Given the description of an element on the screen output the (x, y) to click on. 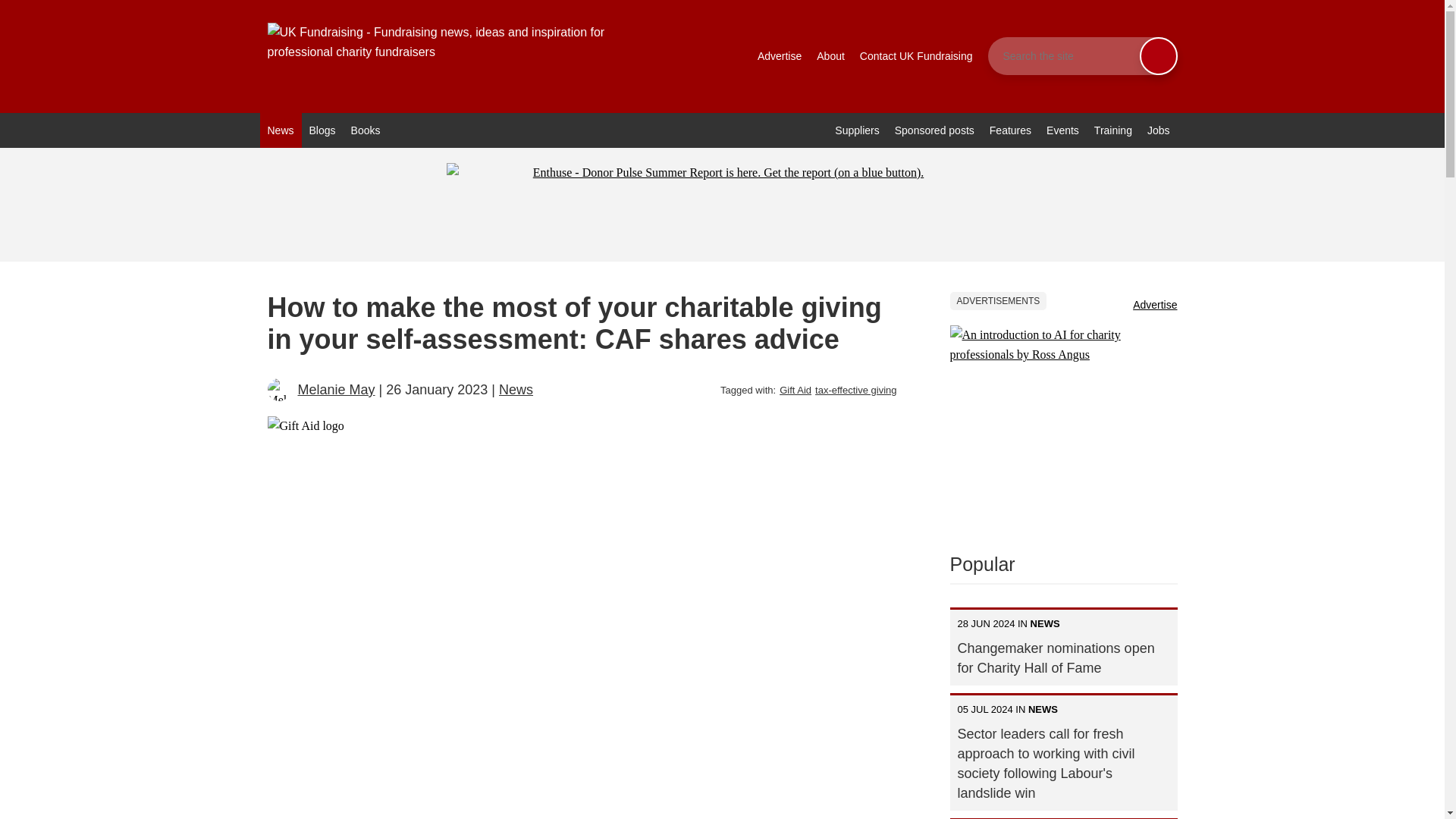
Goto UK Fundraising homepage (456, 56)
Contact UK Fundraising (915, 55)
News (280, 130)
Blogs (322, 130)
Features (1010, 130)
Jobs (1158, 130)
News (515, 389)
Training (1113, 130)
Melanie May (335, 389)
Sponsored posts (933, 130)
Advertise (779, 55)
View posts in News (515, 389)
Events (1062, 130)
About (830, 55)
tax-effective giving (855, 389)
